Given the description of an element on the screen output the (x, y) to click on. 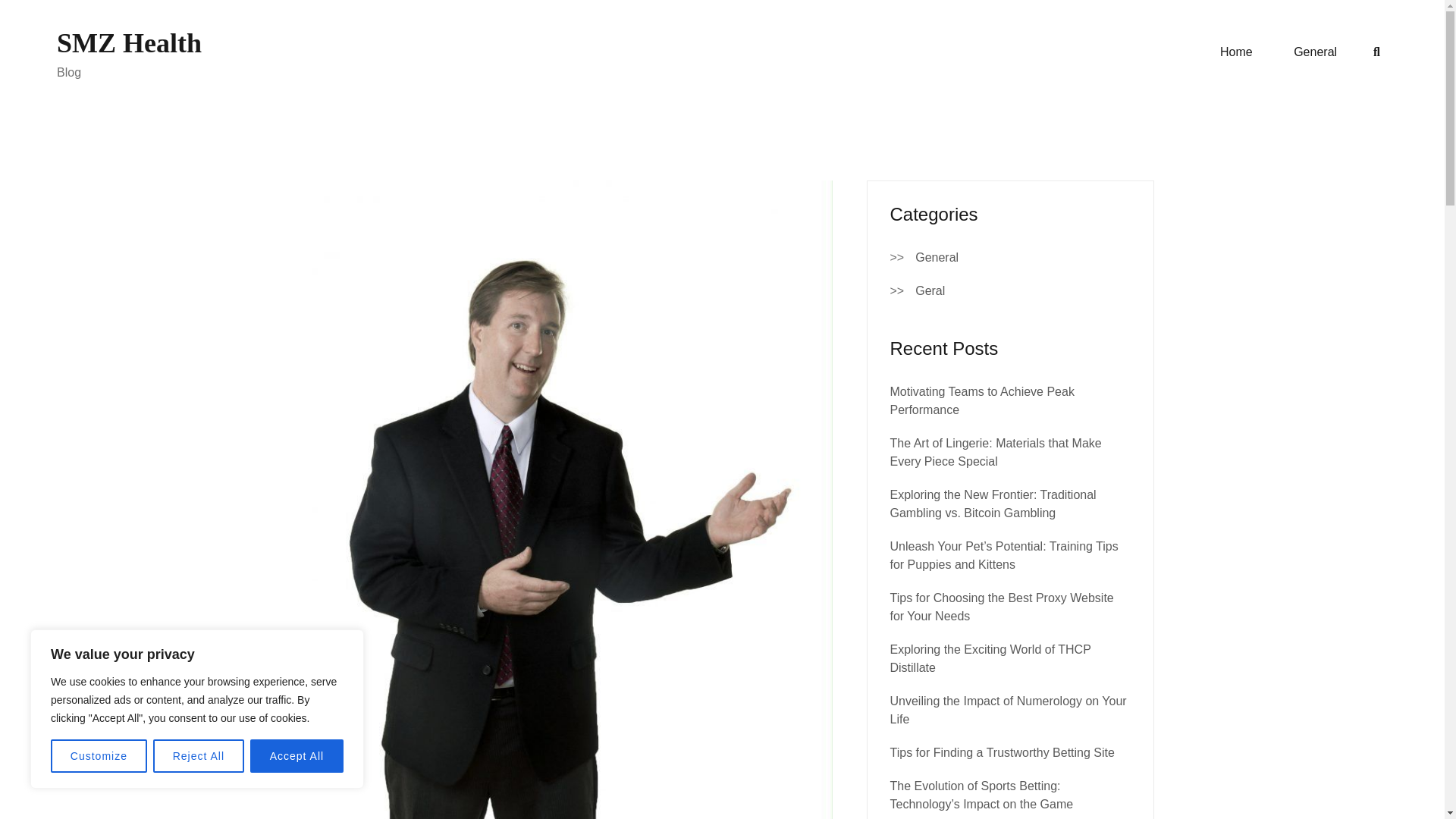
General (1315, 52)
General (936, 257)
Customize (98, 756)
Geral (929, 290)
Home (1236, 52)
Reject All (198, 756)
Tips for Choosing the Best Proxy Website for Your Needs (1001, 606)
SMZ Health (129, 42)
The Art of Lingerie: Materials that Make Every Piece Special (995, 451)
Motivating Teams to Achieve Peak Performance (981, 400)
Accept All (296, 756)
